Given the description of an element on the screen output the (x, y) to click on. 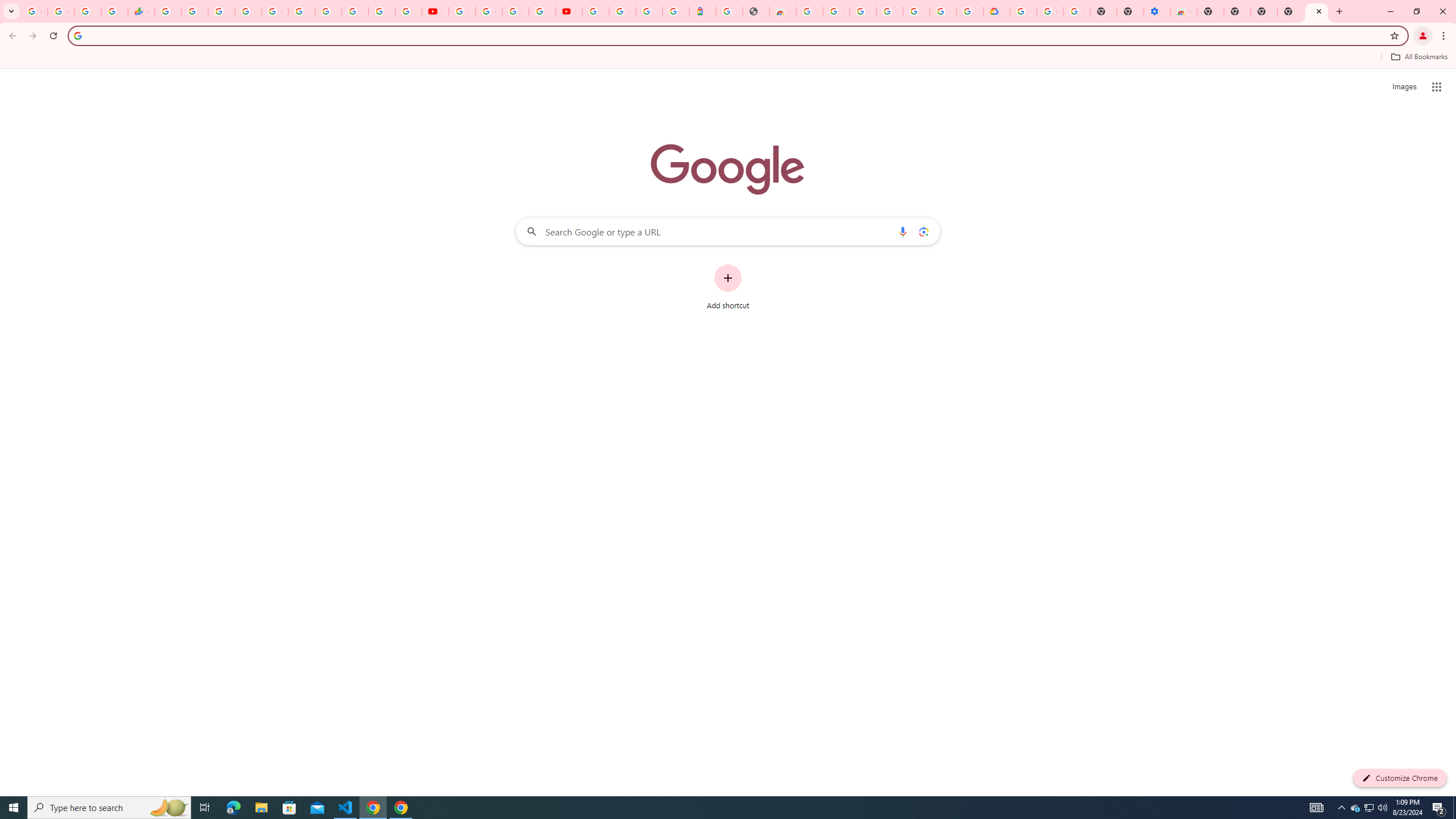
Bookmarks (728, 58)
Atour Hotel - Google hotels (702, 11)
New Tab (1316, 11)
Sign in - Google Accounts (943, 11)
Chrome Web Store - Accessibility extensions (1183, 11)
Ad Settings (836, 11)
Search Google or type a URL (727, 230)
